Given the description of an element on the screen output the (x, y) to click on. 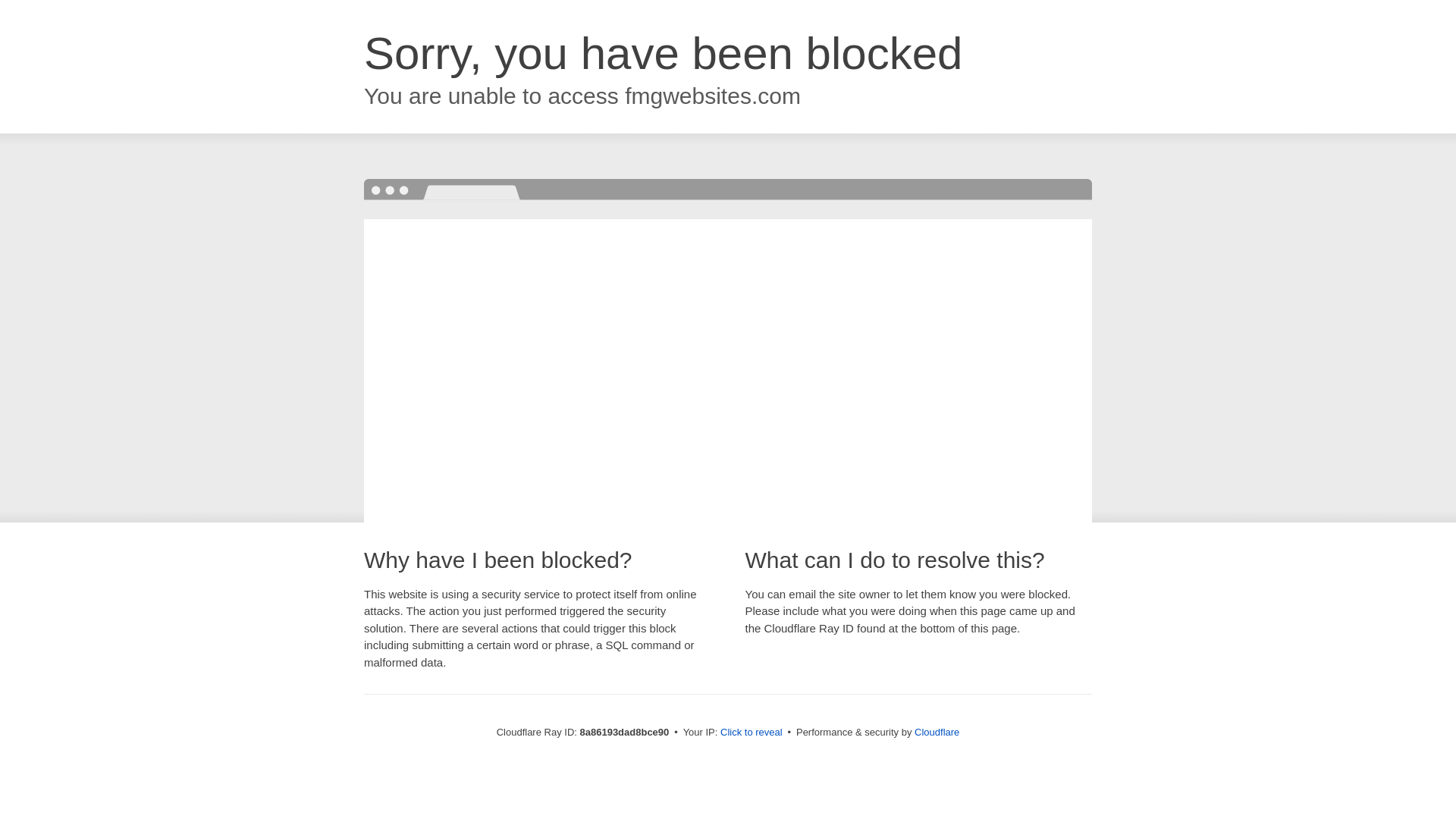
Click to reveal (751, 732)
Cloudflare (936, 731)
